Given the description of an element on the screen output the (x, y) to click on. 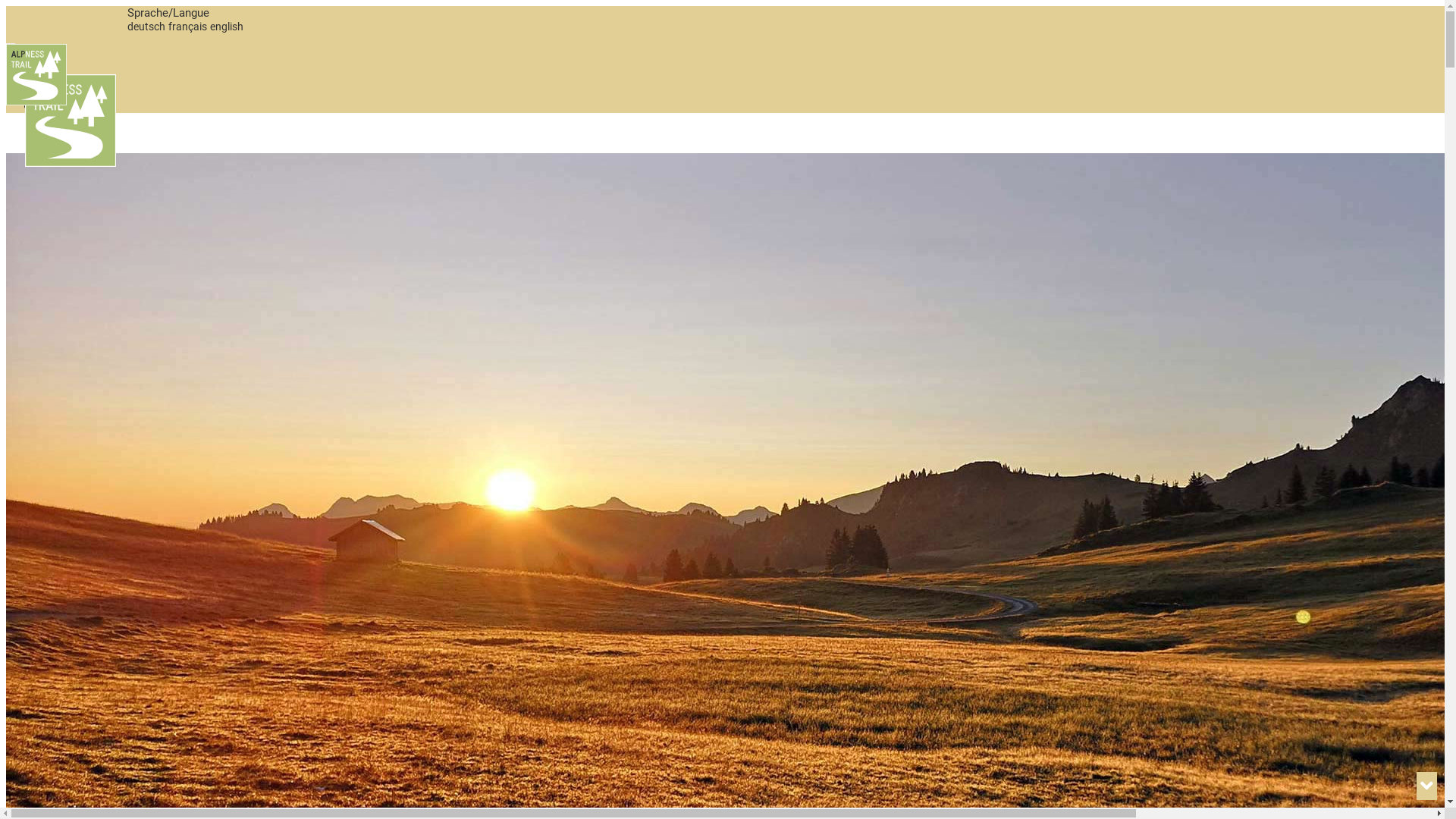
Map Element type: text (47, 65)
Stages Element type: text (54, 78)
Hiking guides Element type: text (71, 92)
deutsch Element type: text (146, 26)
Impressions Element type: text (67, 105)
english Element type: text (226, 26)
Sprache/Langue Element type: text (168, 12)
